Given the description of an element on the screen output the (x, y) to click on. 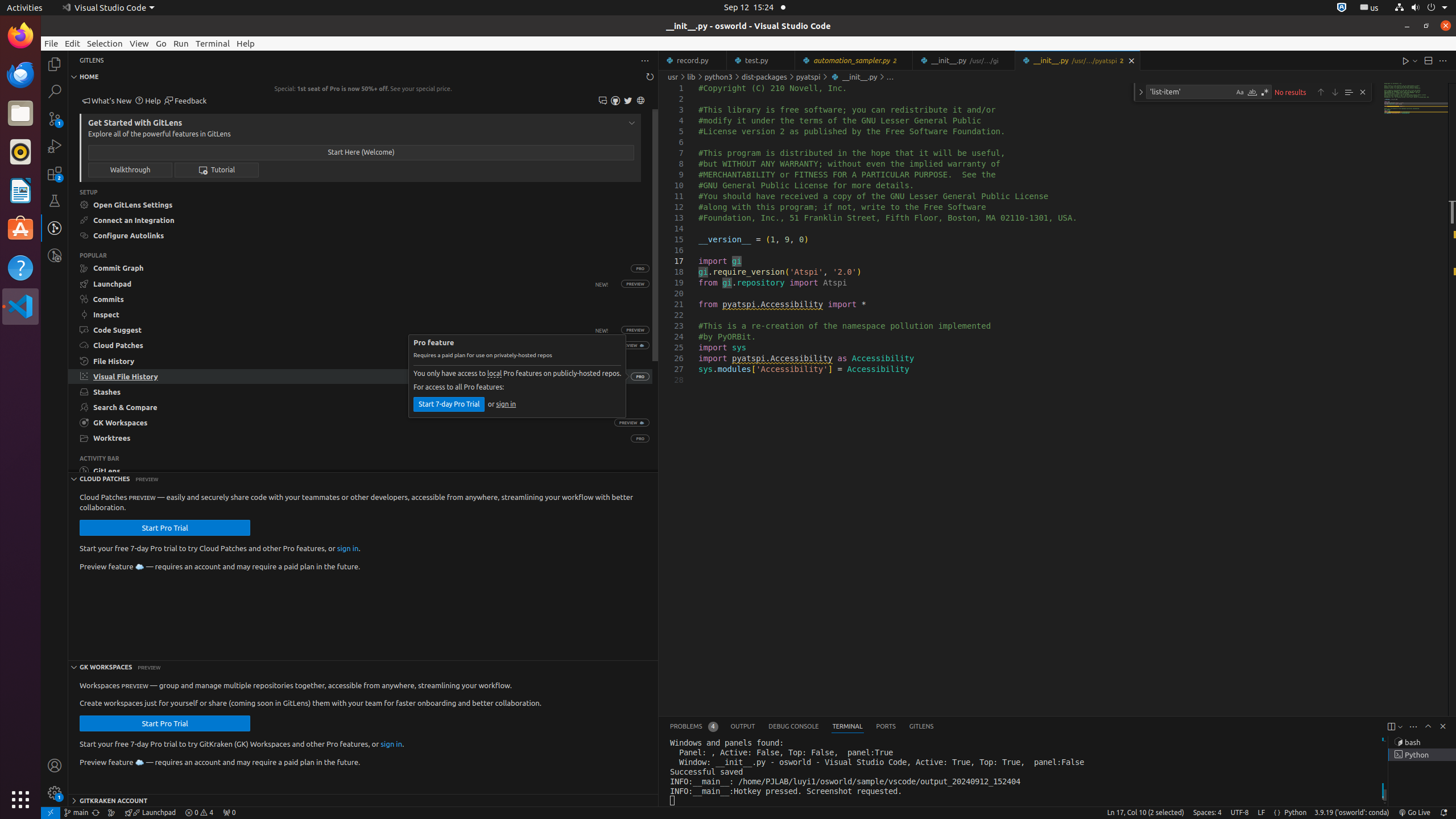
Collapse walkthrough section Element type: link (631, 123)
Open Launchpad Element type: link (343, 283)
Run or Debug... Element type: push-button (1414, 60)
Show Commit Graph Element type: link (348, 267)
Terminal 5 Python Element type: list-item (1422, 754)
